Given the description of an element on the screen output the (x, y) to click on. 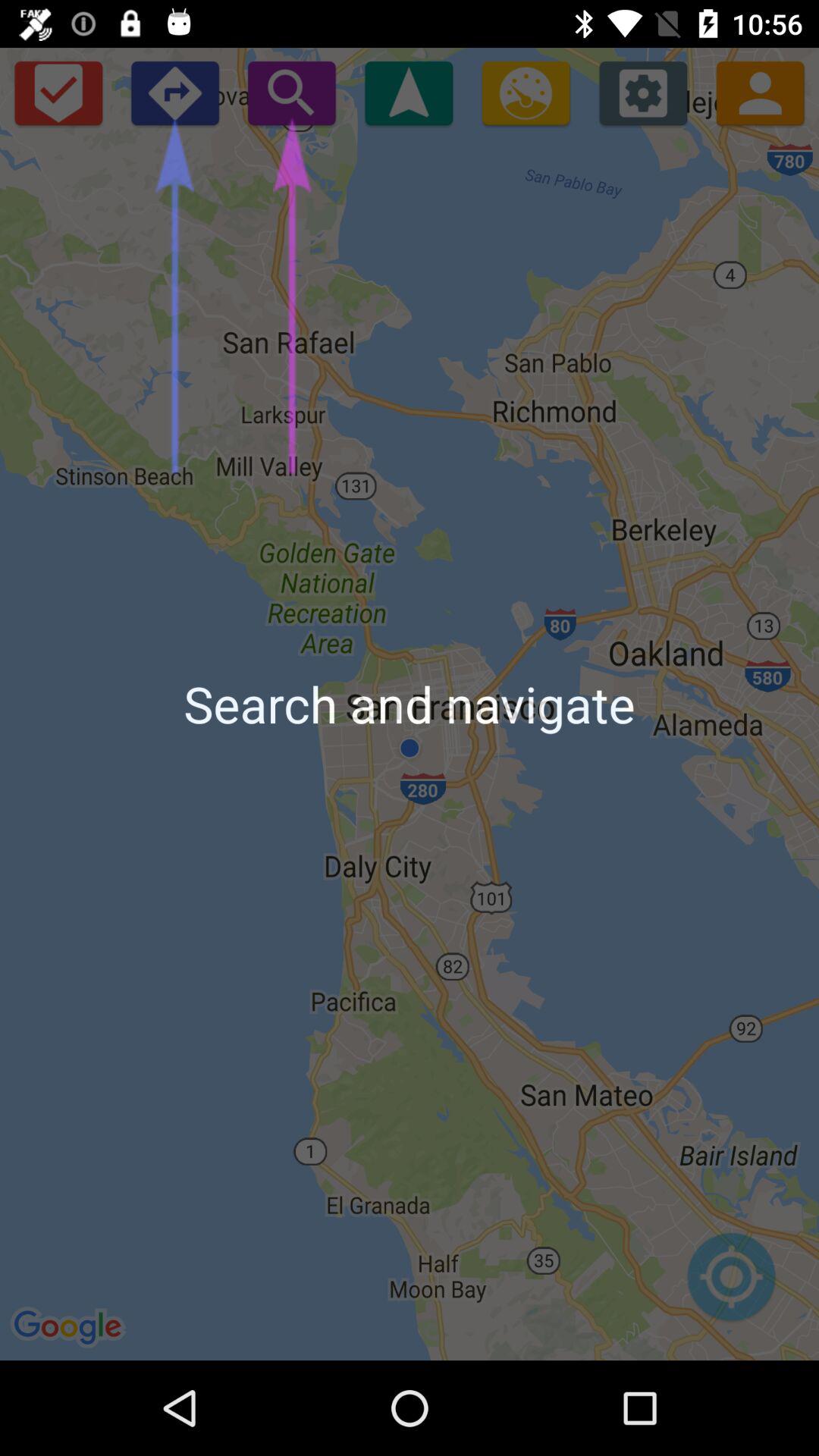
get directions (525, 92)
